Given the description of an element on the screen output the (x, y) to click on. 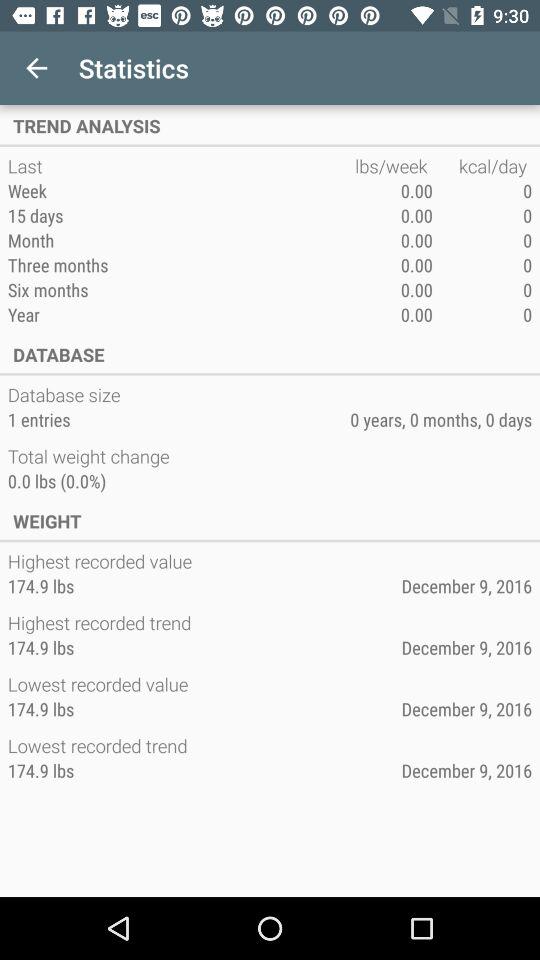
turn off the lbs/week (393, 165)
